Given the description of an element on the screen output the (x, y) to click on. 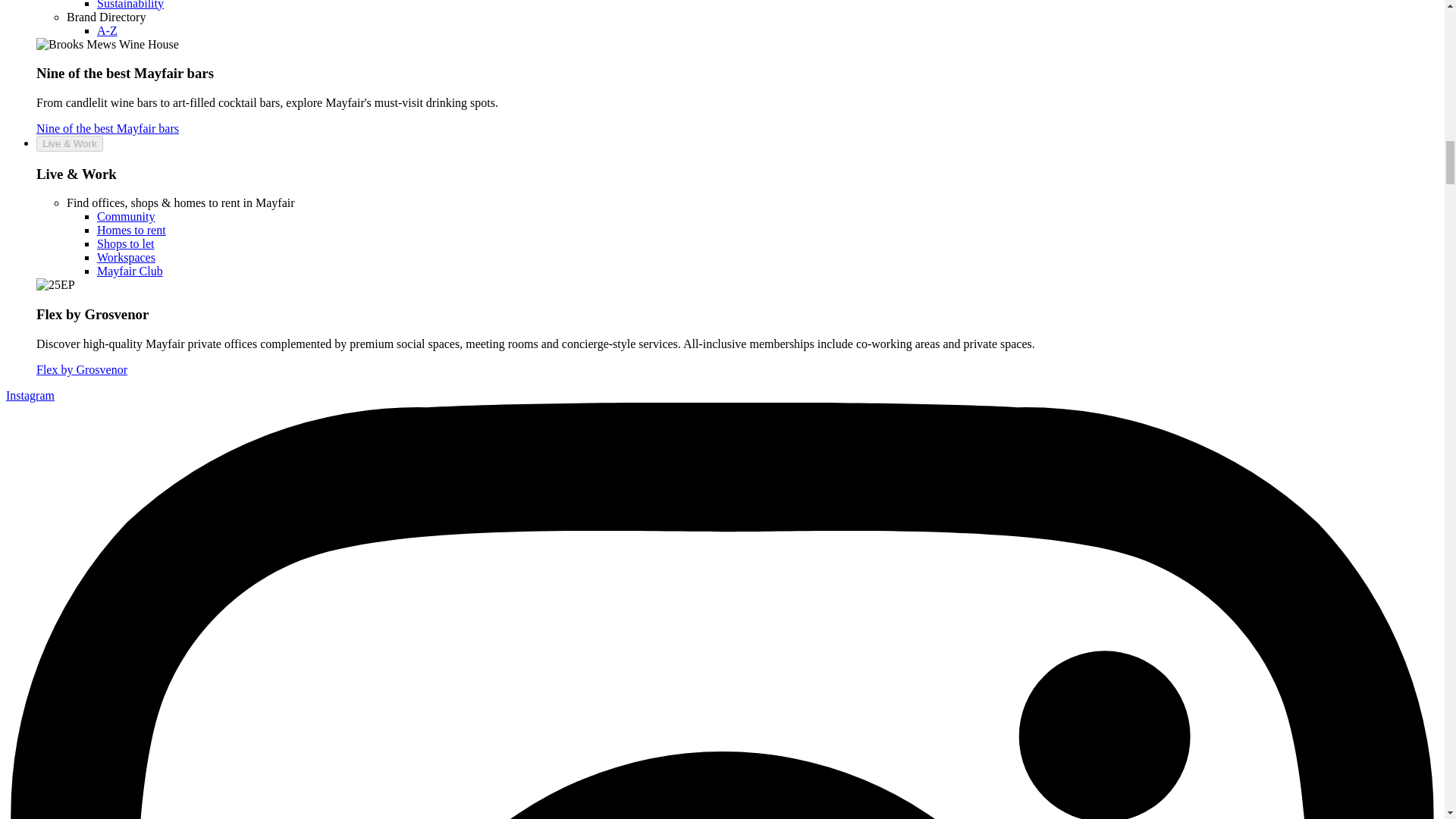
A-Z (107, 30)
Homes to rent (131, 229)
Nine of the best Mayfair bars (107, 128)
Workspaces (126, 256)
Sustainability (130, 4)
Shops to let (125, 243)
Community (125, 215)
